Given the description of an element on the screen output the (x, y) to click on. 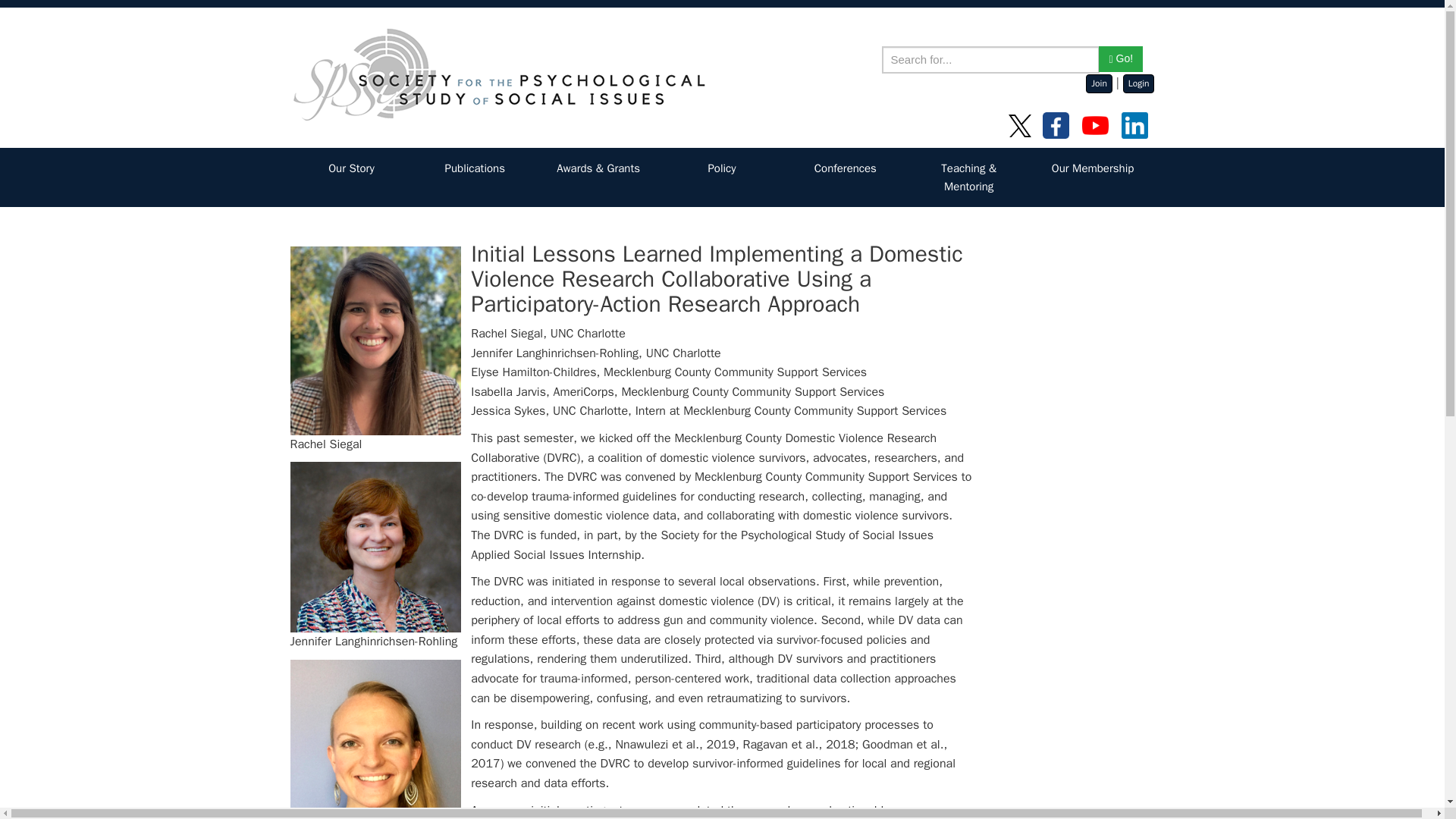
Policy (722, 168)
Go! (1120, 58)
Our Story (351, 168)
Join (1099, 83)
Policy (722, 168)
Our Story (351, 168)
Conferences (845, 168)
Publications (475, 168)
Publications (475, 168)
Login (1138, 83)
